Given the description of an element on the screen output the (x, y) to click on. 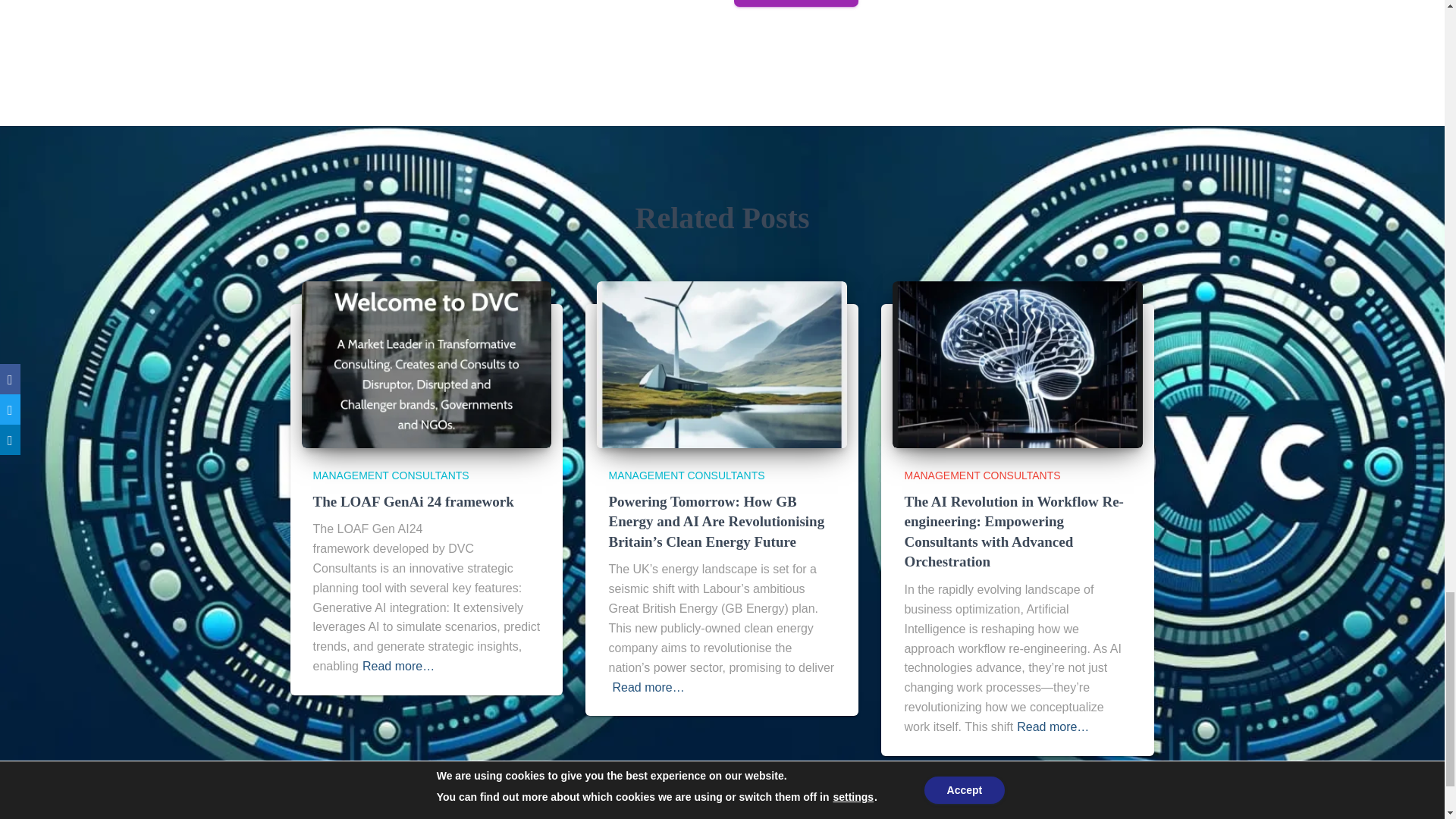
MANAGEMENT CONSULTANTS (390, 475)
Post Comment (796, 3)
View all posts in Management Consultants (390, 475)
MANAGEMENT CONSULTANTS (981, 475)
View all posts in Management Consultants (686, 475)
MANAGEMENT CONSULTANTS (686, 475)
The LOAF GenAi 24 framework (426, 363)
The LOAF GenAi 24 framework (413, 500)
Post Comment (796, 3)
The LOAF GenAi 24 framework (413, 500)
